Given the description of an element on the screen output the (x, y) to click on. 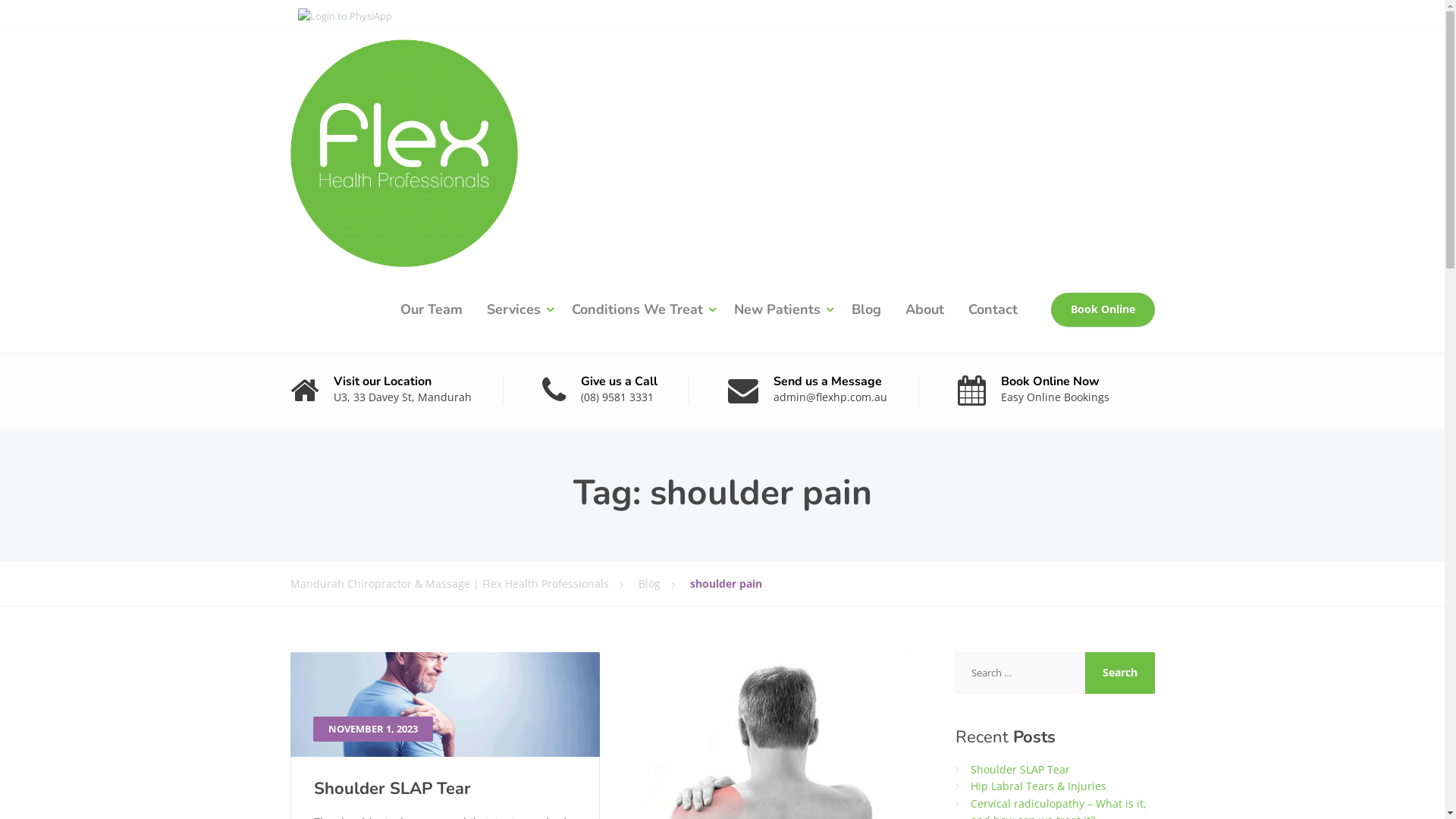
Our Team Element type: text (431, 309)
Book Online Element type: text (1102, 309)
Blog Element type: text (865, 309)
Hip Labral Tears & Injuries Element type: text (1038, 785)
Blog Element type: text (664, 583)
Services Element type: text (517, 309)
Shoulder SLAP Tear Element type: text (391, 788)
Mandurah Chiropractor & Massage | Flex Health Professionals Element type: hover (403, 148)
Contact Element type: text (992, 309)
Search Element type: text (1119, 672)
NOVEMBER 1, 2023 Element type: text (444, 704)
Shoulder SLAP Tear Element type: text (1020, 769)
Mandurah Chiropractor & Massage | Flex Health Professionals Element type: text (463, 583)
Conditions We Treat Element type: text (640, 309)
New Patients Element type: text (780, 309)
About Element type: text (924, 309)
